Given the description of an element on the screen output the (x, y) to click on. 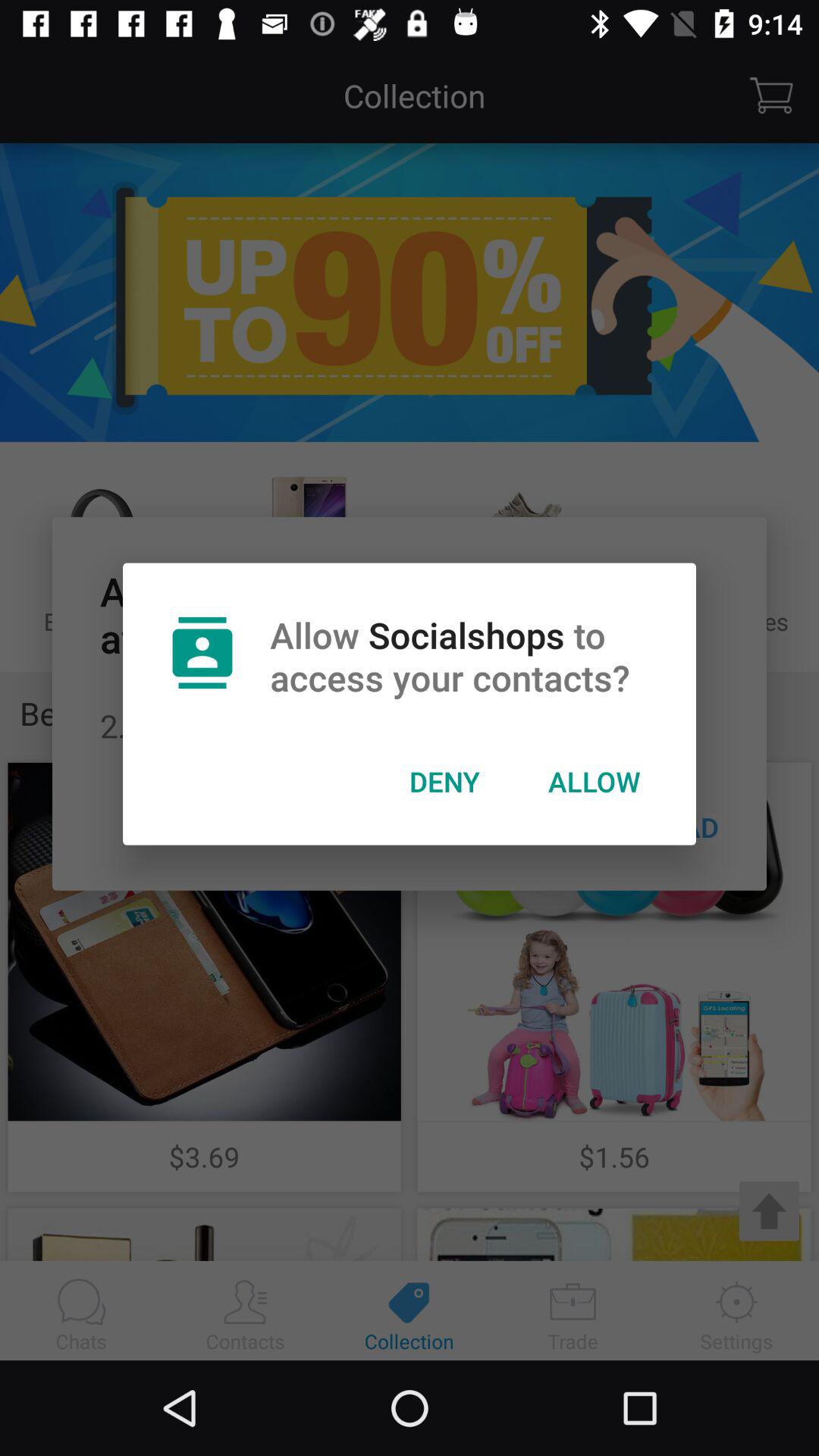
swipe until deny (444, 781)
